Given the description of an element on the screen output the (x, y) to click on. 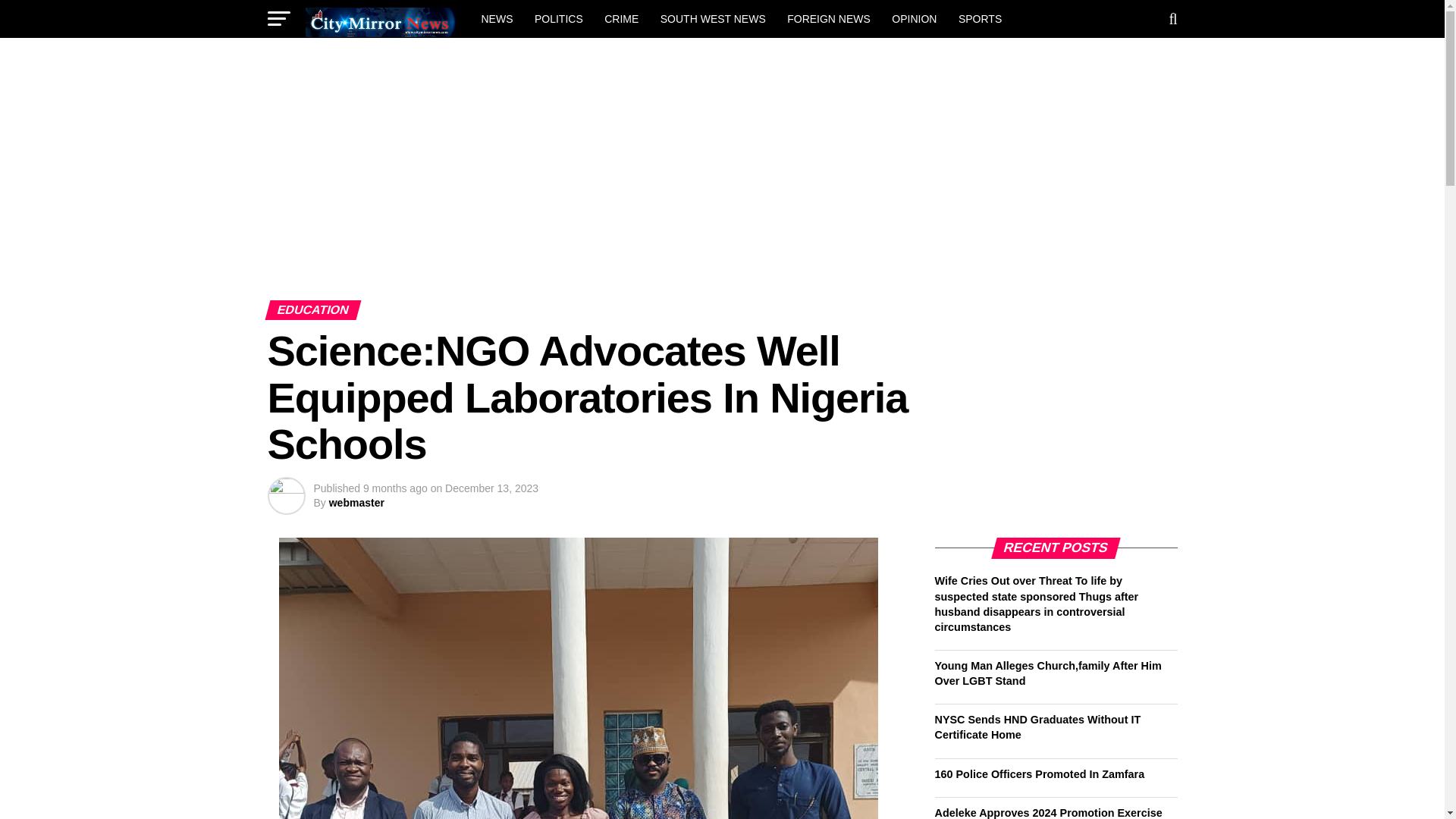
SOUTH WEST NEWS (712, 18)
OPINION (913, 18)
POLITICS (558, 18)
Posts by webmaster (356, 502)
160 Police Officers Promoted In Zamfara (1039, 774)
webmaster (356, 502)
Young Man Alleges Church,family After Him Over LGBT Stand (1047, 673)
FOREIGN NEWS (828, 18)
NEWS (496, 18)
CRIME (621, 18)
